Given the description of an element on the screen output the (x, y) to click on. 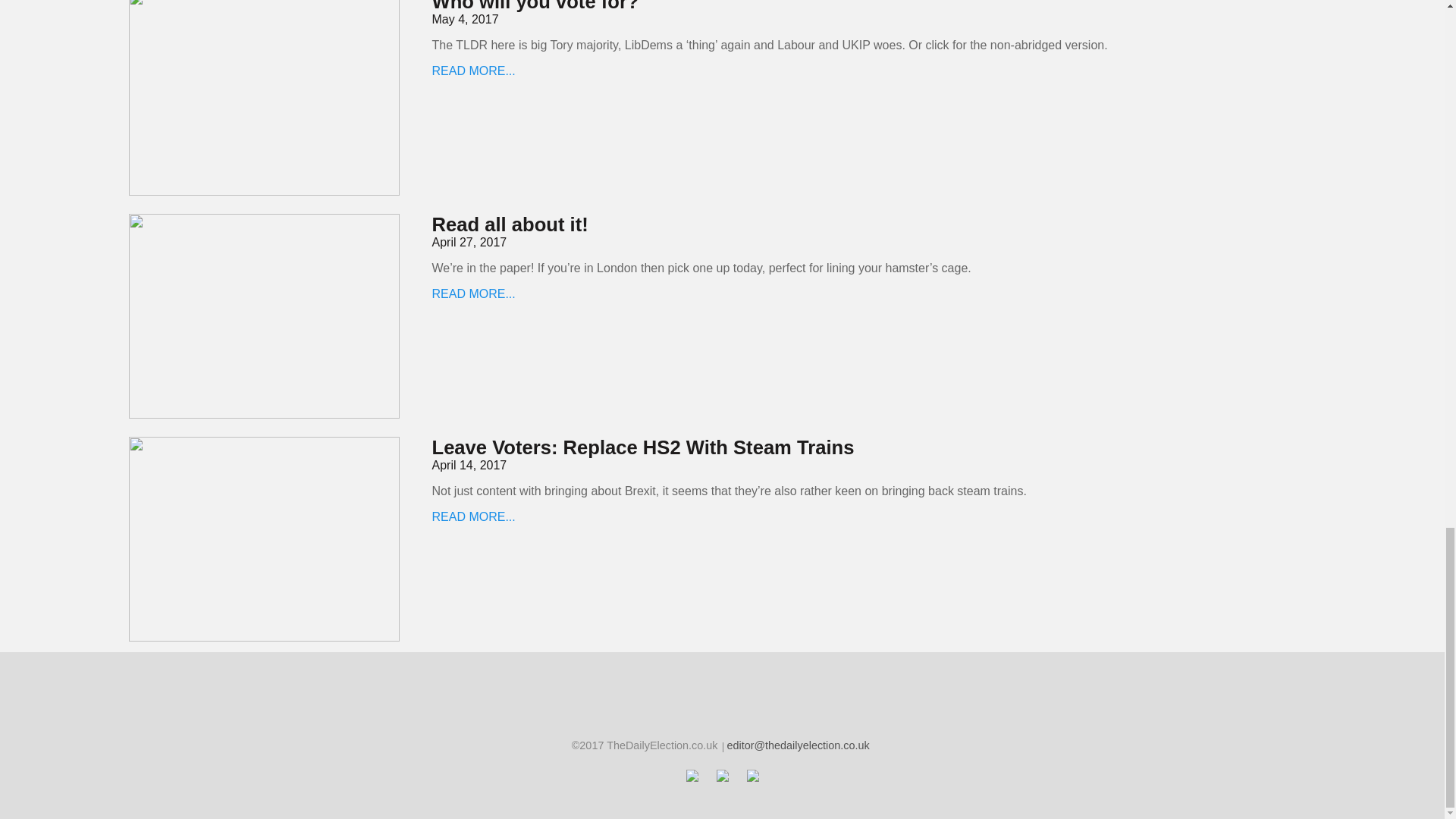
Who will you vote for? (535, 6)
READ MORE... (473, 70)
READ MORE... (473, 293)
Read all about it! (510, 224)
